Given the description of an element on the screen output the (x, y) to click on. 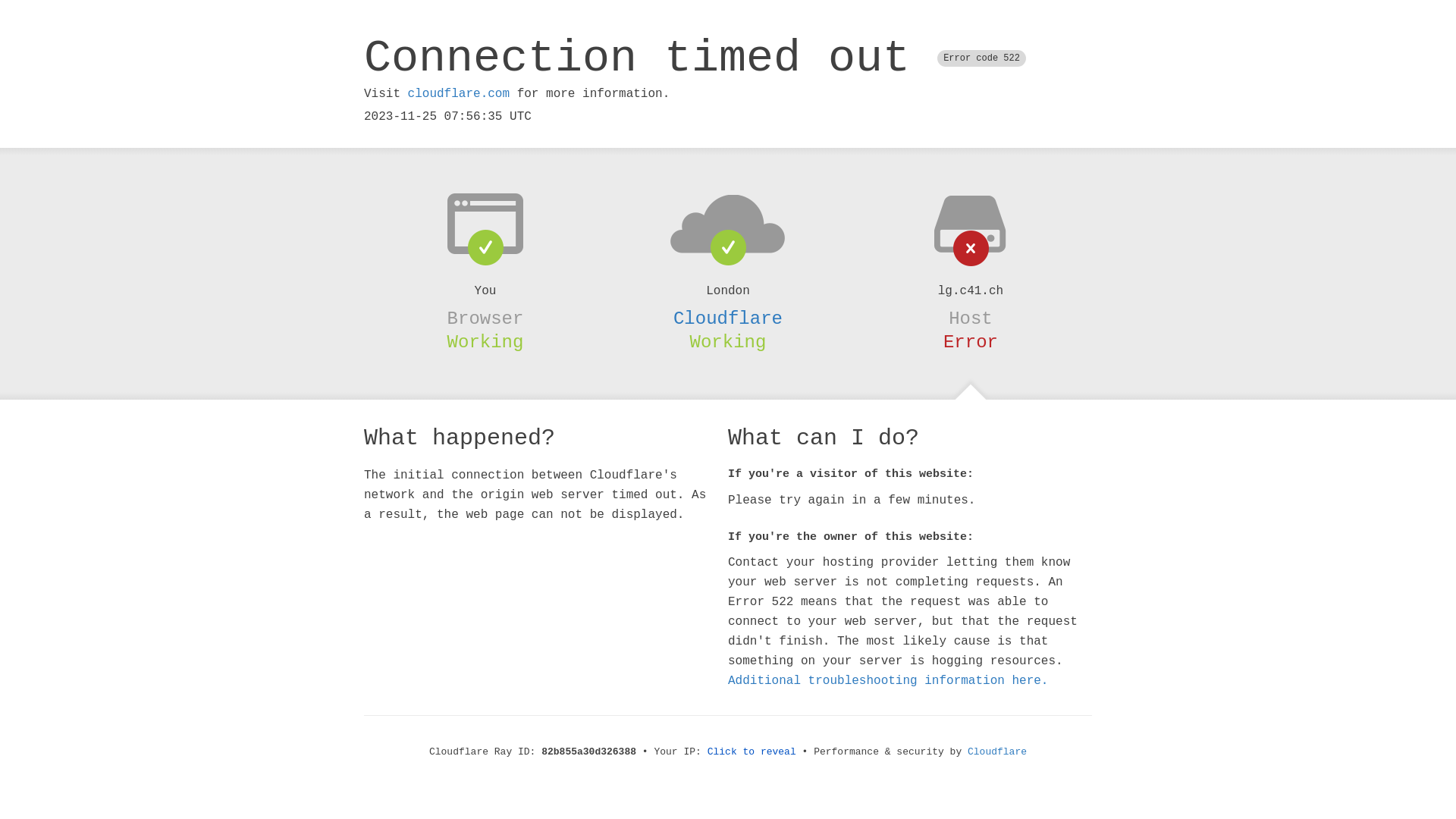
Click to reveal Element type: text (751, 751)
cloudflare.com Element type: text (458, 93)
Cloudflare Element type: text (727, 318)
Cloudflare Element type: text (996, 751)
Additional troubleshooting information here. Element type: text (888, 680)
